Given the description of an element on the screen output the (x, y) to click on. 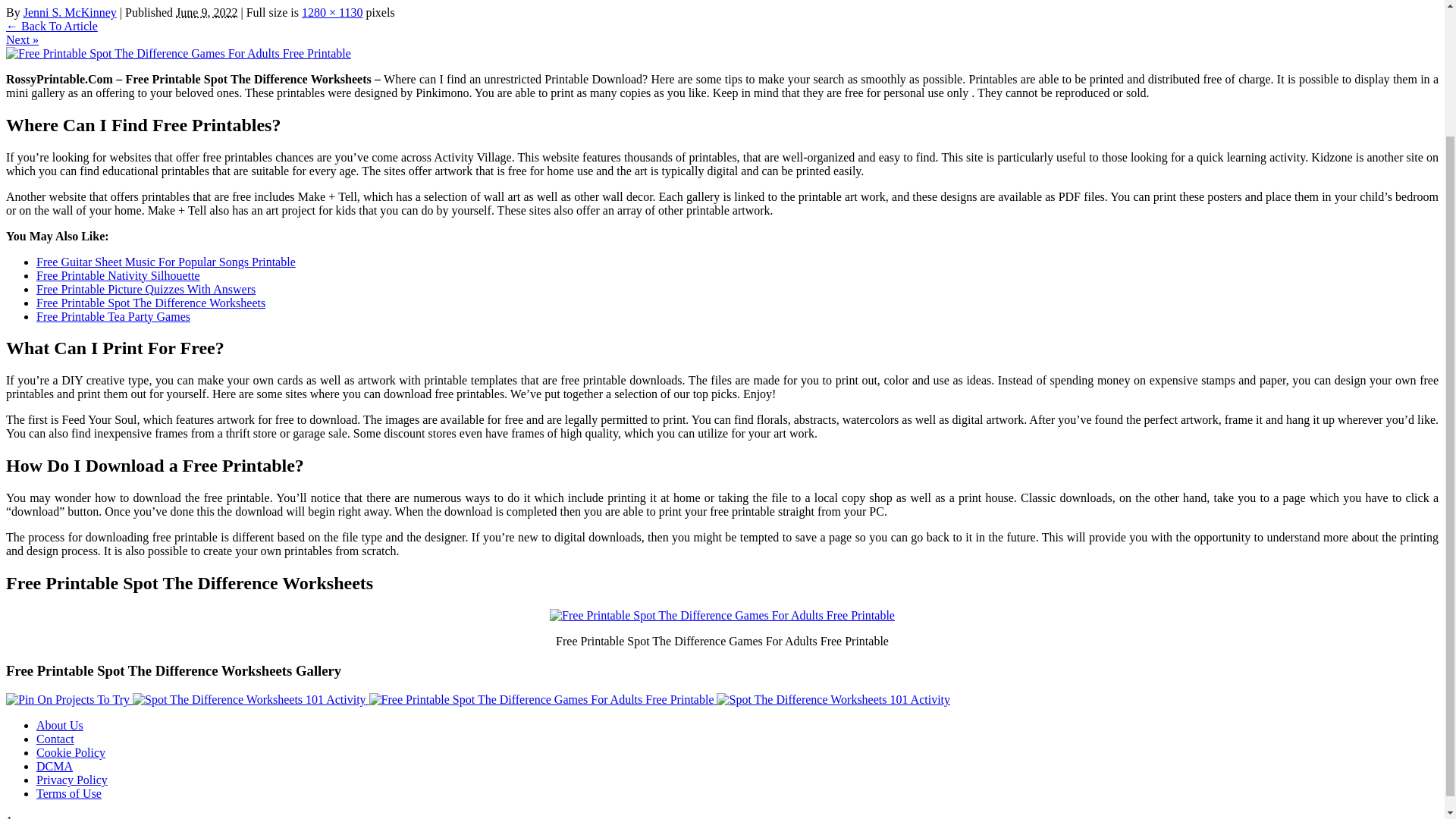
Free Printable Picture Quizzes With Answers (146, 287)
Contact (55, 738)
Cookie Policy (70, 752)
View all posts by Jenni S. McKinney (69, 11)
Privacy Policy (71, 779)
Pin On Projects To Try (68, 698)
